Given the description of an element on the screen output the (x, y) to click on. 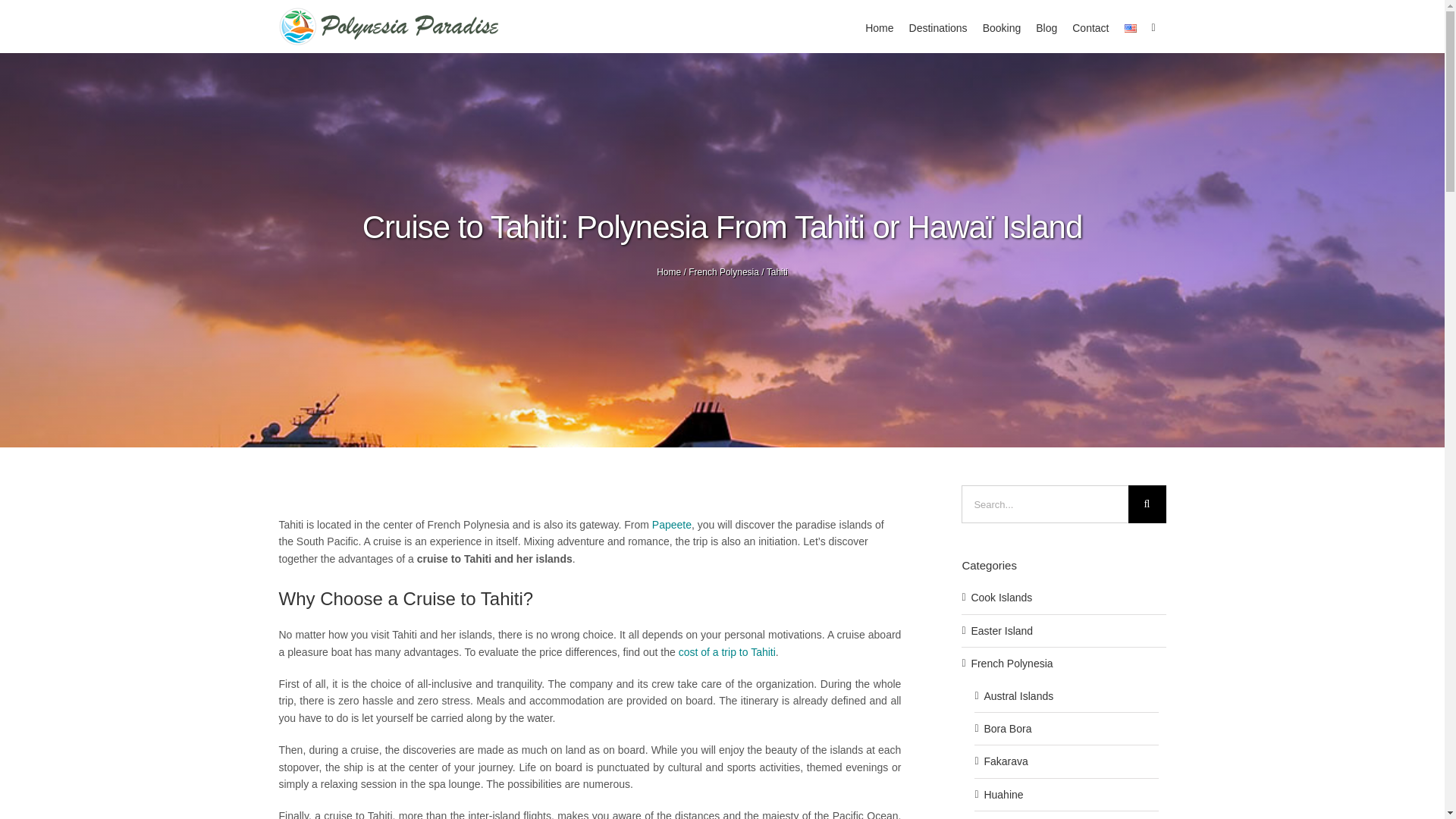
Destinations (938, 26)
Booking (1002, 26)
Blog (1046, 26)
Home (878, 26)
Contact (1089, 26)
